Given the description of an element on the screen output the (x, y) to click on. 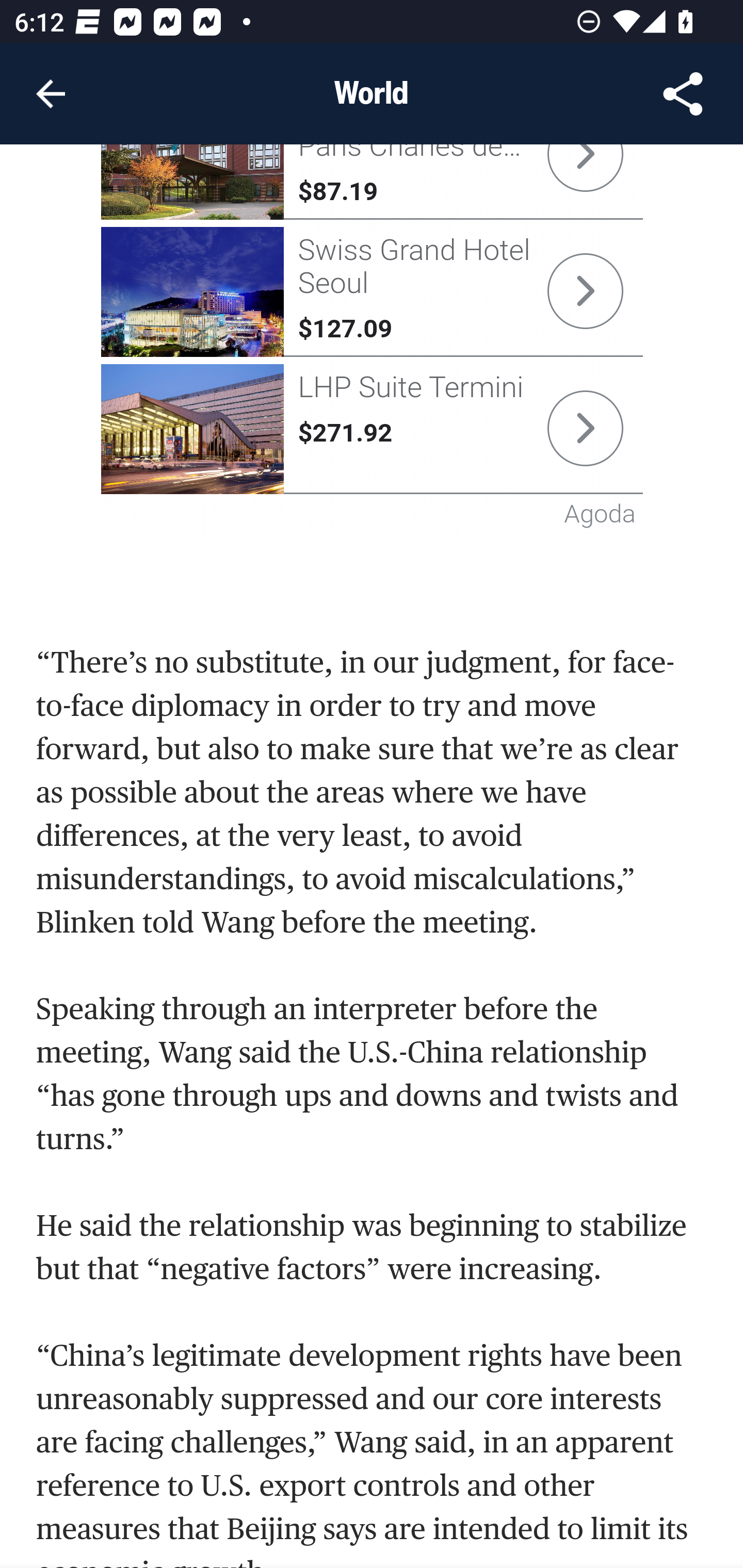
Navigate up (50, 93)
Share Article, button (683, 94)
partnersearch (193, 182)
partnersearch (584, 168)
$87.19 (337, 191)
partnersearch (193, 293)
Swiss Grand Hotel Seoul Swiss Grand Hotel Seoul (413, 266)
partnersearch (584, 291)
$127.09 (344, 328)
partnersearch (193, 430)
LHP Suite Termini (409, 388)
partnersearch (584, 428)
$271.92 (344, 434)
Agoda (600, 514)
